Given the description of an element on the screen output the (x, y) to click on. 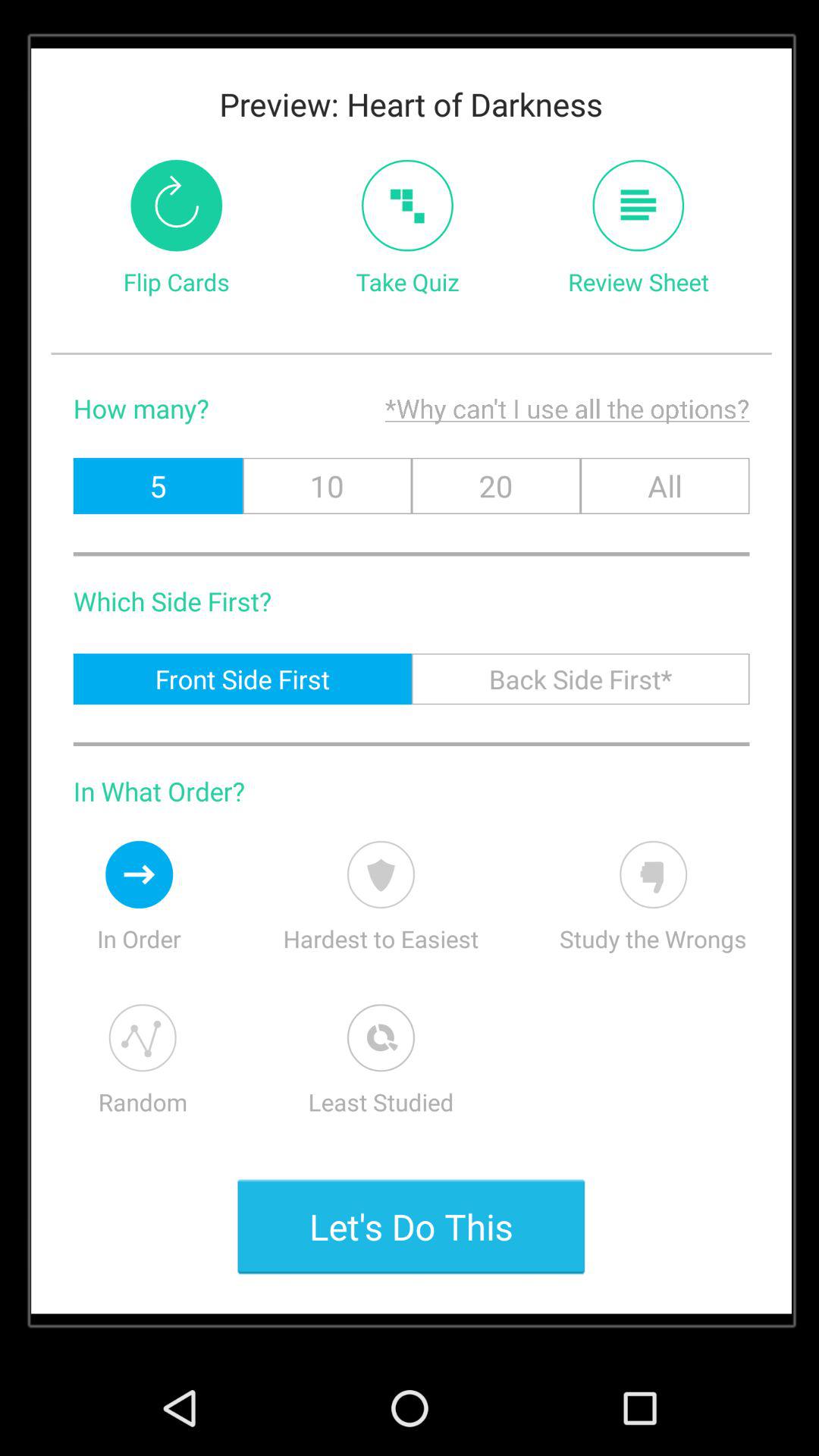
order the list by putting the study the wrongs first (653, 874)
